Given the description of an element on the screen output the (x, y) to click on. 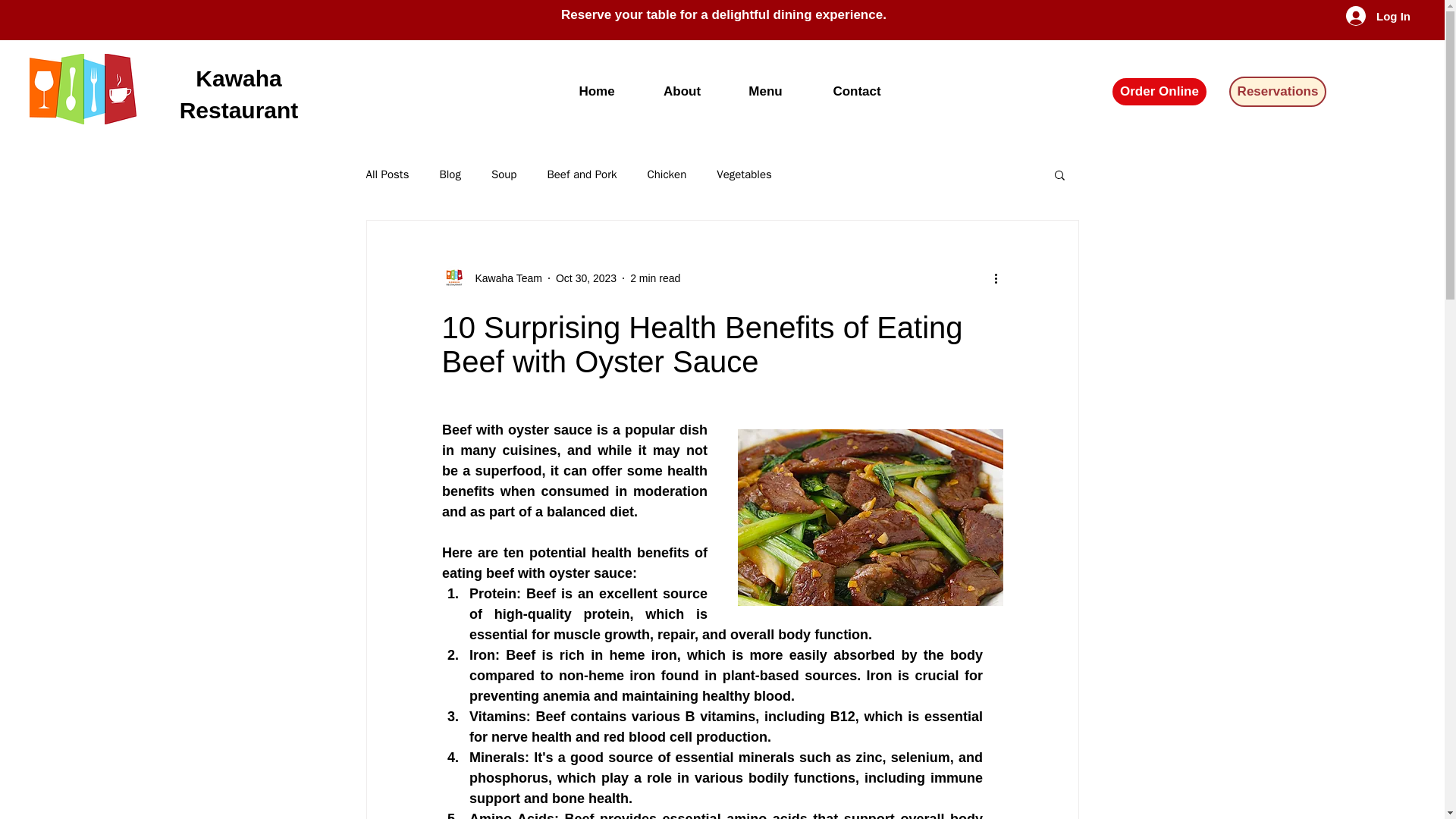
Blog (449, 173)
Menu (765, 91)
Reservations (1277, 91)
Home (597, 91)
Kawaha Team (491, 278)
Order Online (1159, 91)
Beef and Pork (581, 173)
Oct 30, 2023 (585, 277)
About (682, 91)
2 min read (654, 277)
Vegetables (743, 173)
Log In (1365, 15)
Chicken (665, 173)
Contact (856, 91)
All Posts (387, 173)
